Given the description of an element on the screen output the (x, y) to click on. 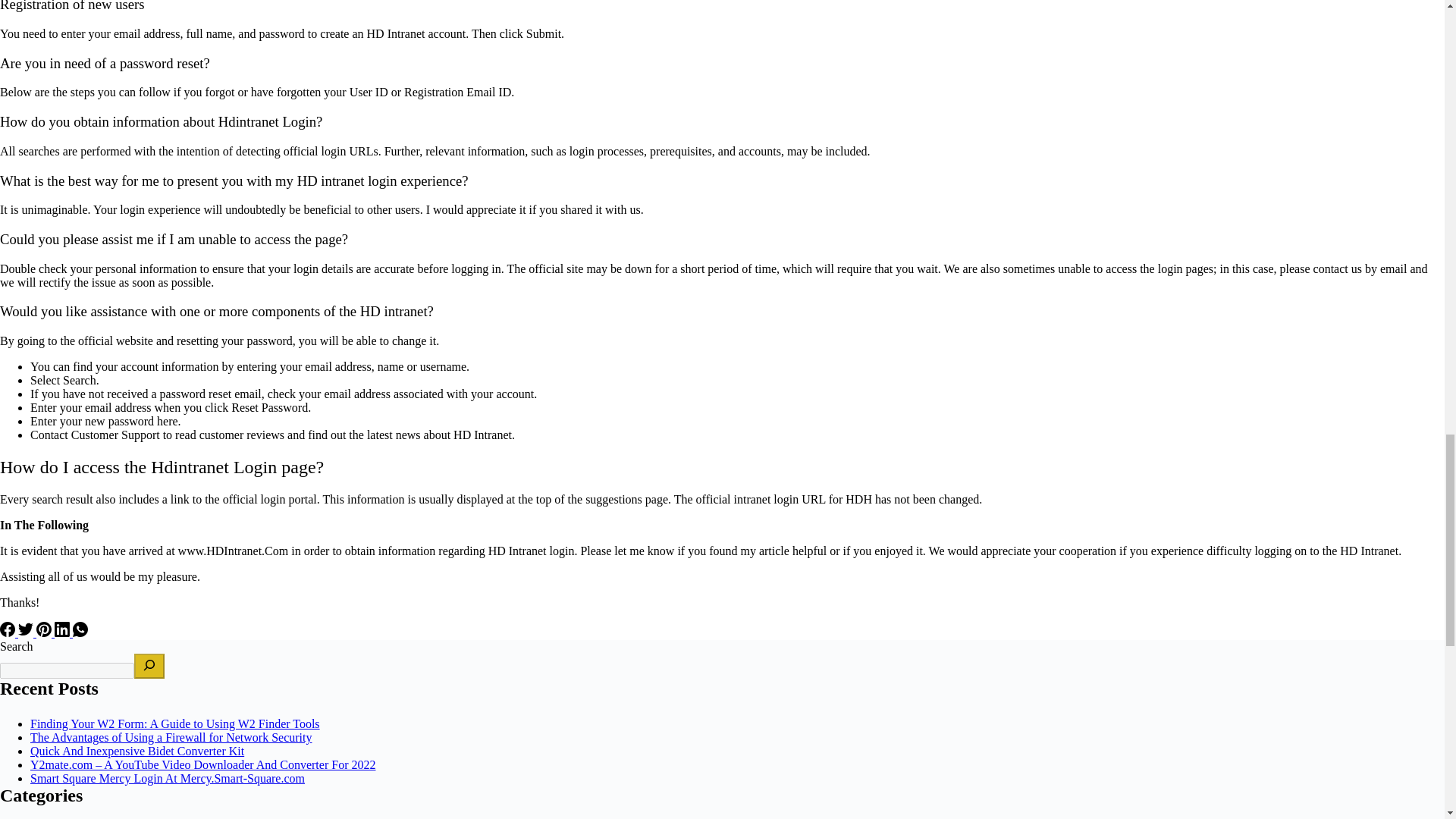
Finding Your W2 Form: A Guide to Using W2 Finder Tools (175, 723)
The Advantages of Using a Firewall for Network Security (170, 737)
Quick And Inexpensive Bidet Converter Kit (137, 750)
